Given the description of an element on the screen output the (x, y) to click on. 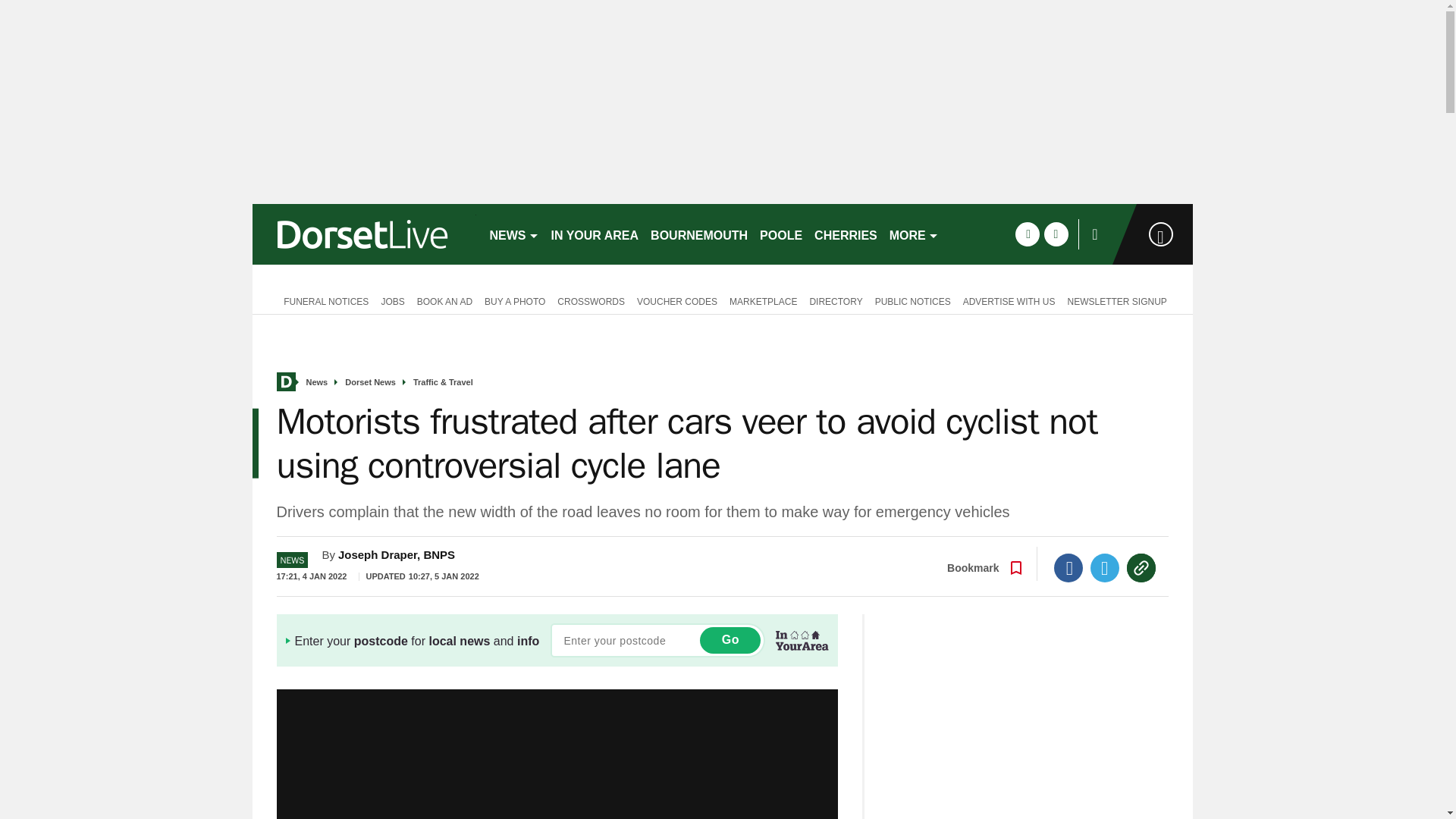
VOUCHER CODES (676, 300)
twitter (1055, 233)
MARKETPLACE (763, 300)
MORE (913, 233)
CHERRIES (845, 233)
POOLE (781, 233)
DIRECTORY (835, 300)
NEWS (513, 233)
IN YOUR AREA (594, 233)
facebook (1026, 233)
